Given the description of an element on the screen output the (x, y) to click on. 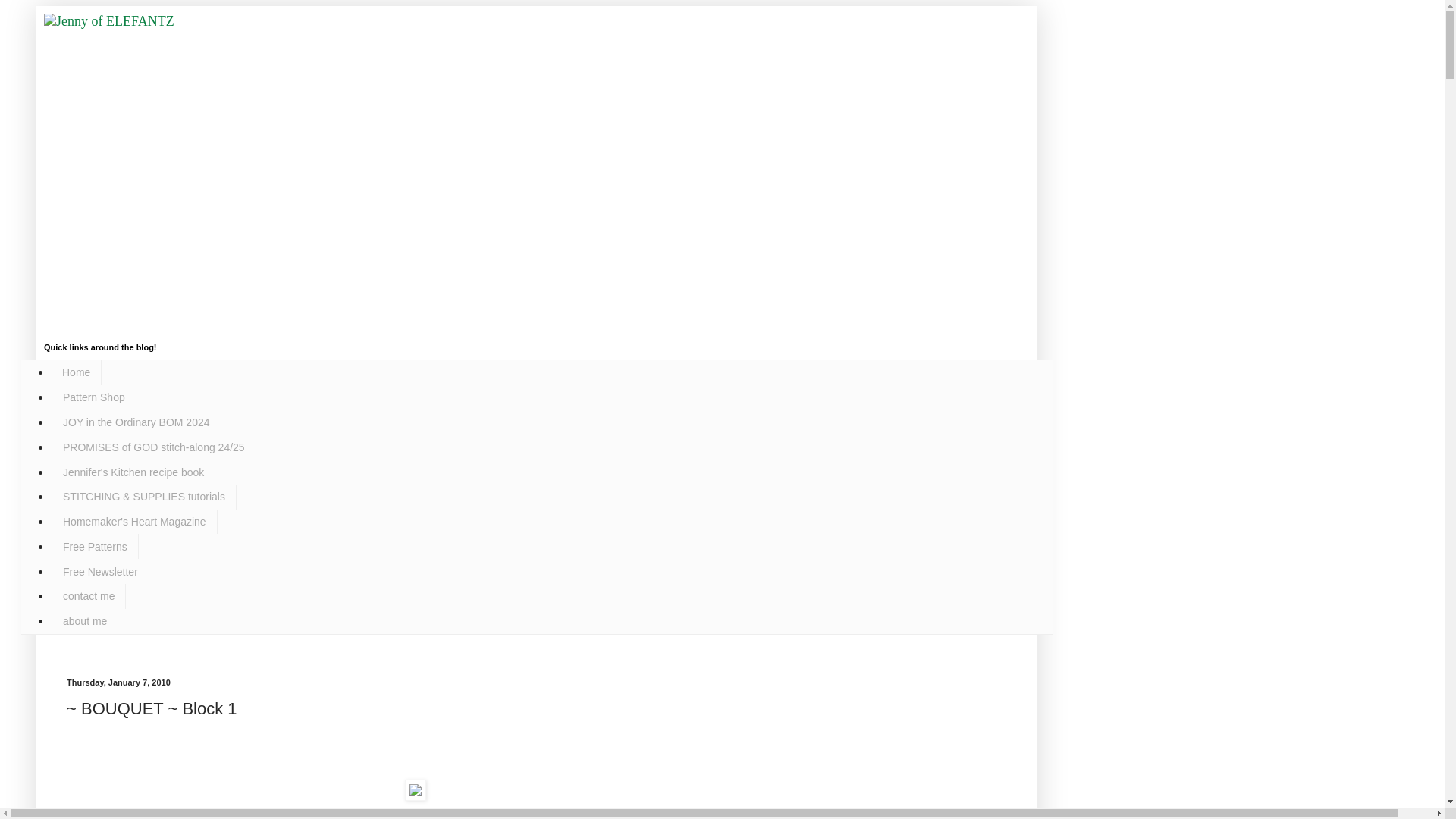
JOY in the Ordinary BOM 2024 (135, 422)
Jennifer's Kitchen recipe book (132, 471)
contact me (87, 596)
Free Patterns (94, 545)
Home (75, 372)
Free Newsletter (99, 570)
Pattern Shop (93, 397)
about me (83, 621)
Homemaker's Heart Magazine (133, 521)
